Given the description of an element on the screen output the (x, y) to click on. 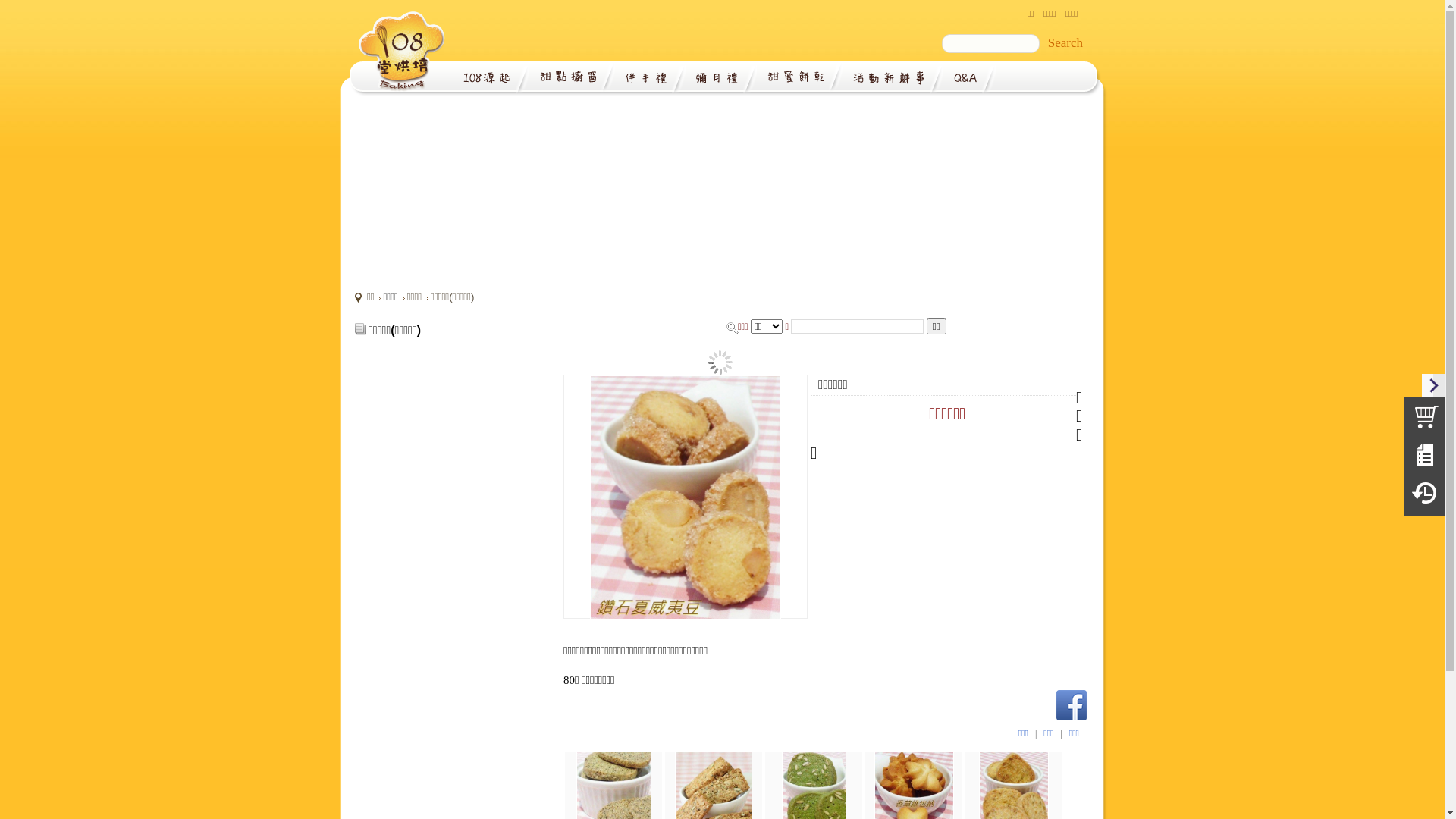
Search Element type: text (1065, 42)
